Given the description of an element on the screen output the (x, y) to click on. 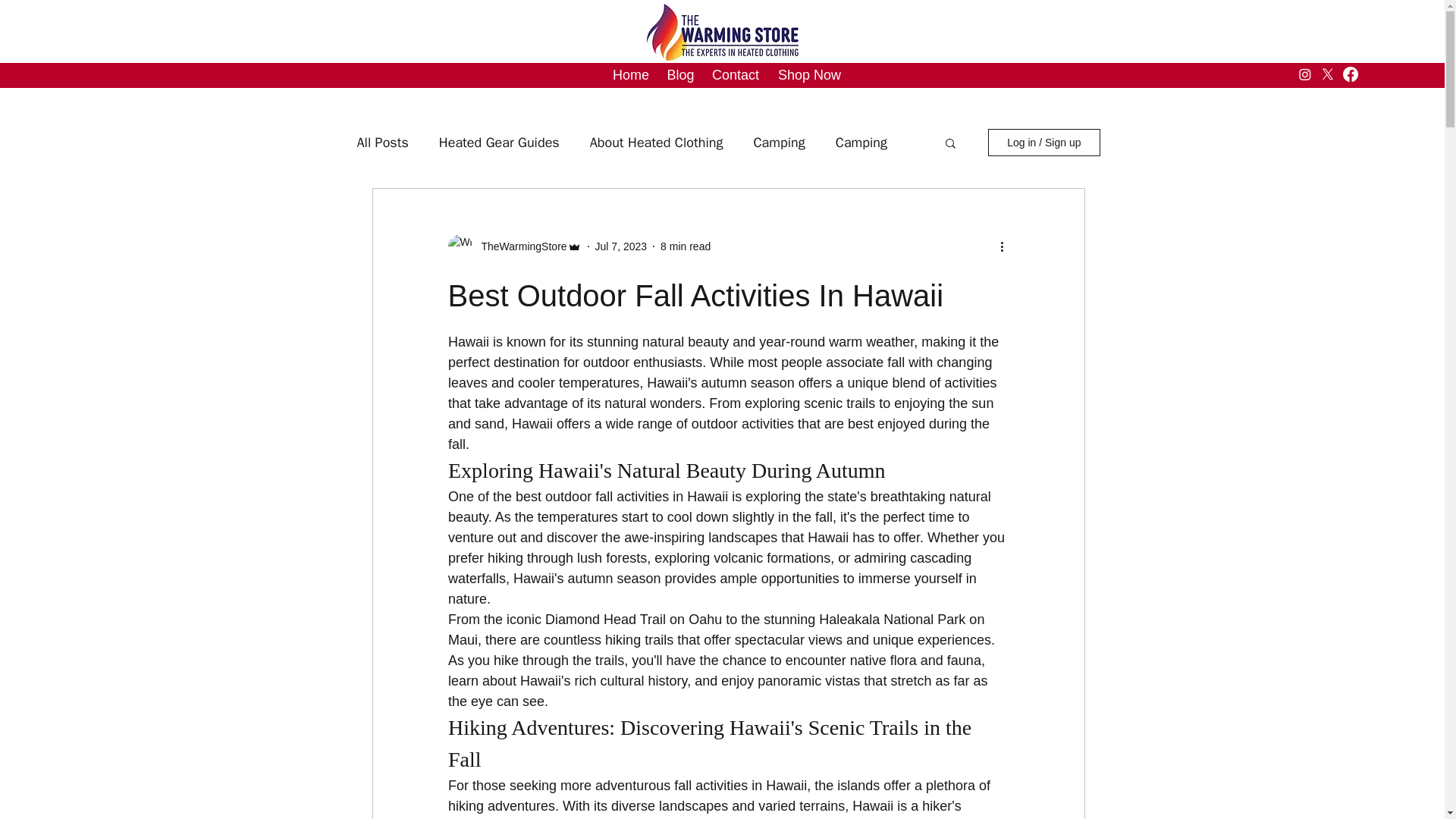
Blog (680, 74)
TheWarmingStore (518, 245)
Camping (778, 142)
Jul 7, 2023 (621, 245)
Shop Now (809, 74)
About Heated Clothing (656, 142)
Contact (735, 74)
All Posts (381, 142)
Home (631, 74)
Heated Gear Guides (499, 142)
Camping (860, 142)
8 min read (685, 245)
